Given the description of an element on the screen output the (x, y) to click on. 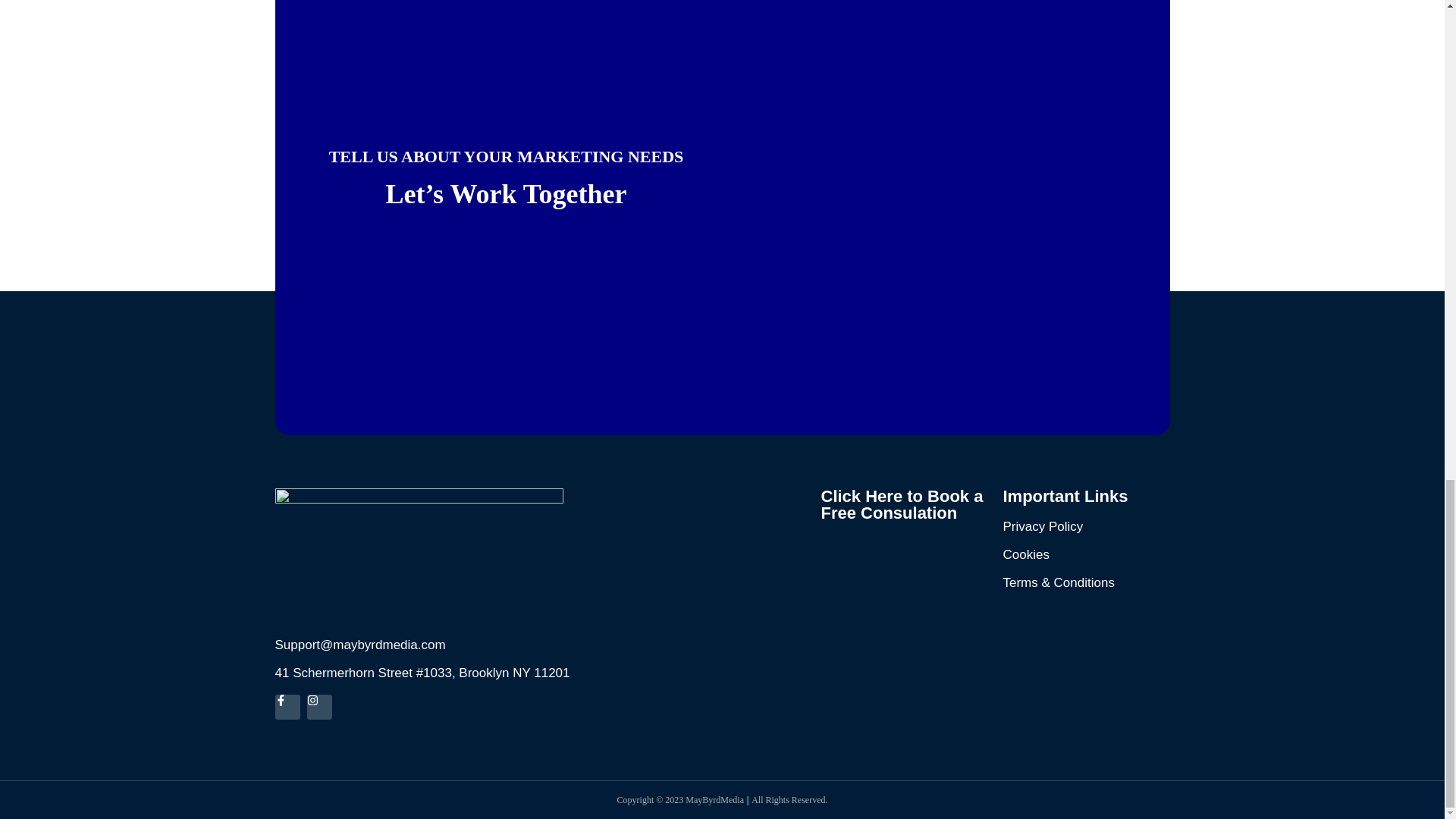
Cookies (1025, 554)
Privacy Policy (1043, 526)
Instagram-Profile-Picture-removebg-preview - MayByrdMedia (418, 555)
